Given the description of an element on the screen output the (x, y) to click on. 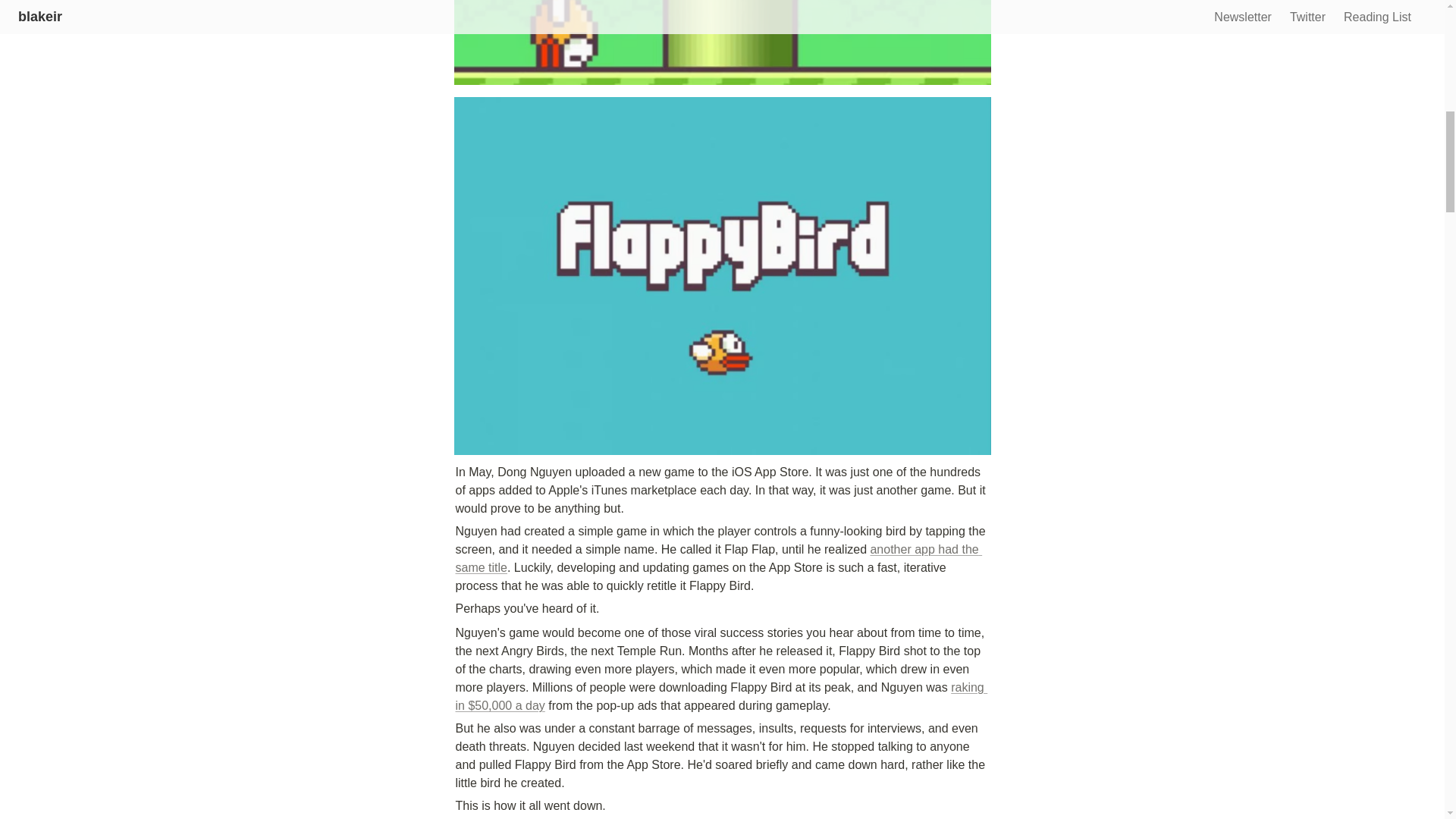
another app had the same title (717, 558)
